Given the description of an element on the screen output the (x, y) to click on. 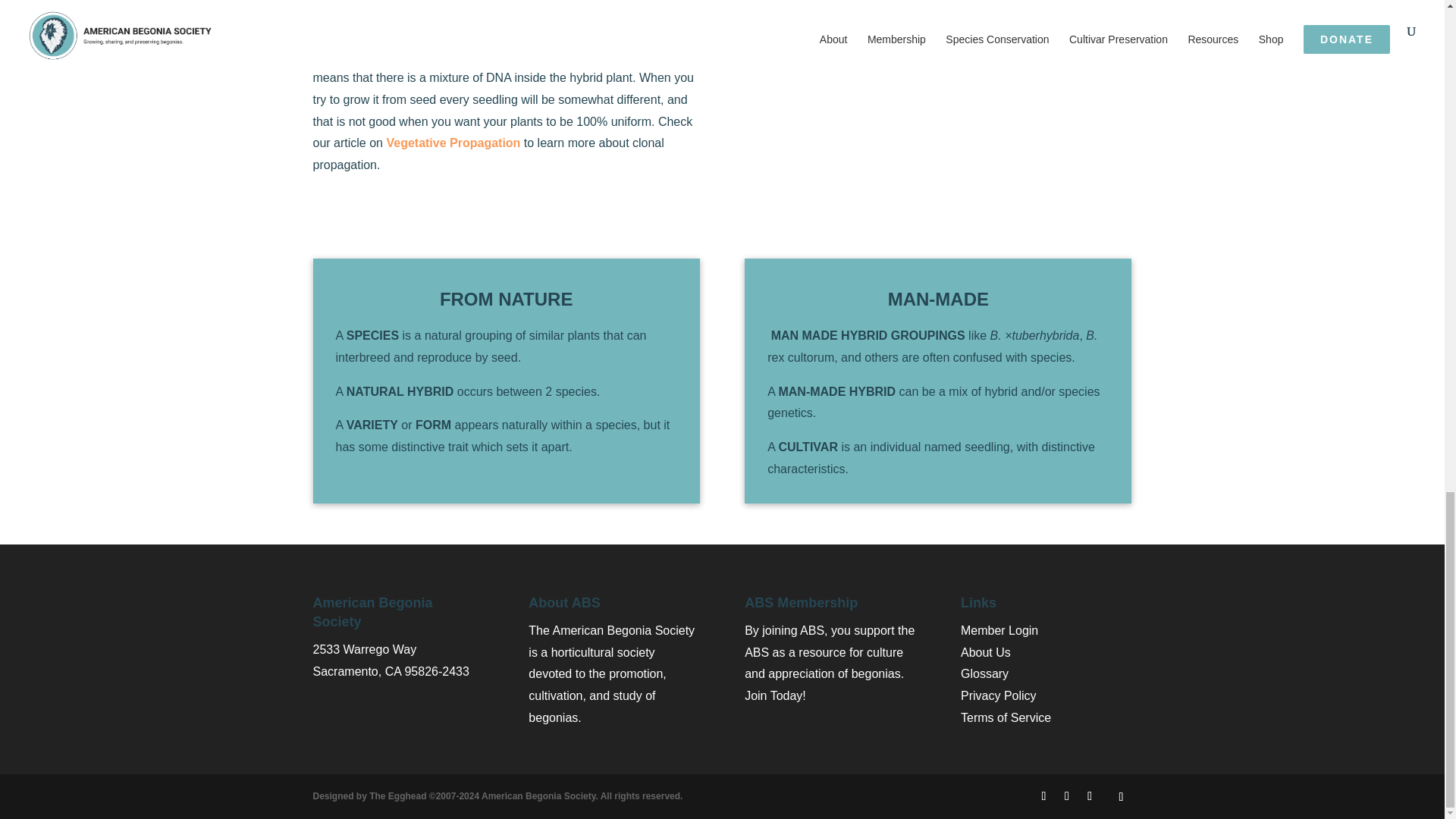
Premium WordPress Development (497, 796)
